Given the description of an element on the screen output the (x, y) to click on. 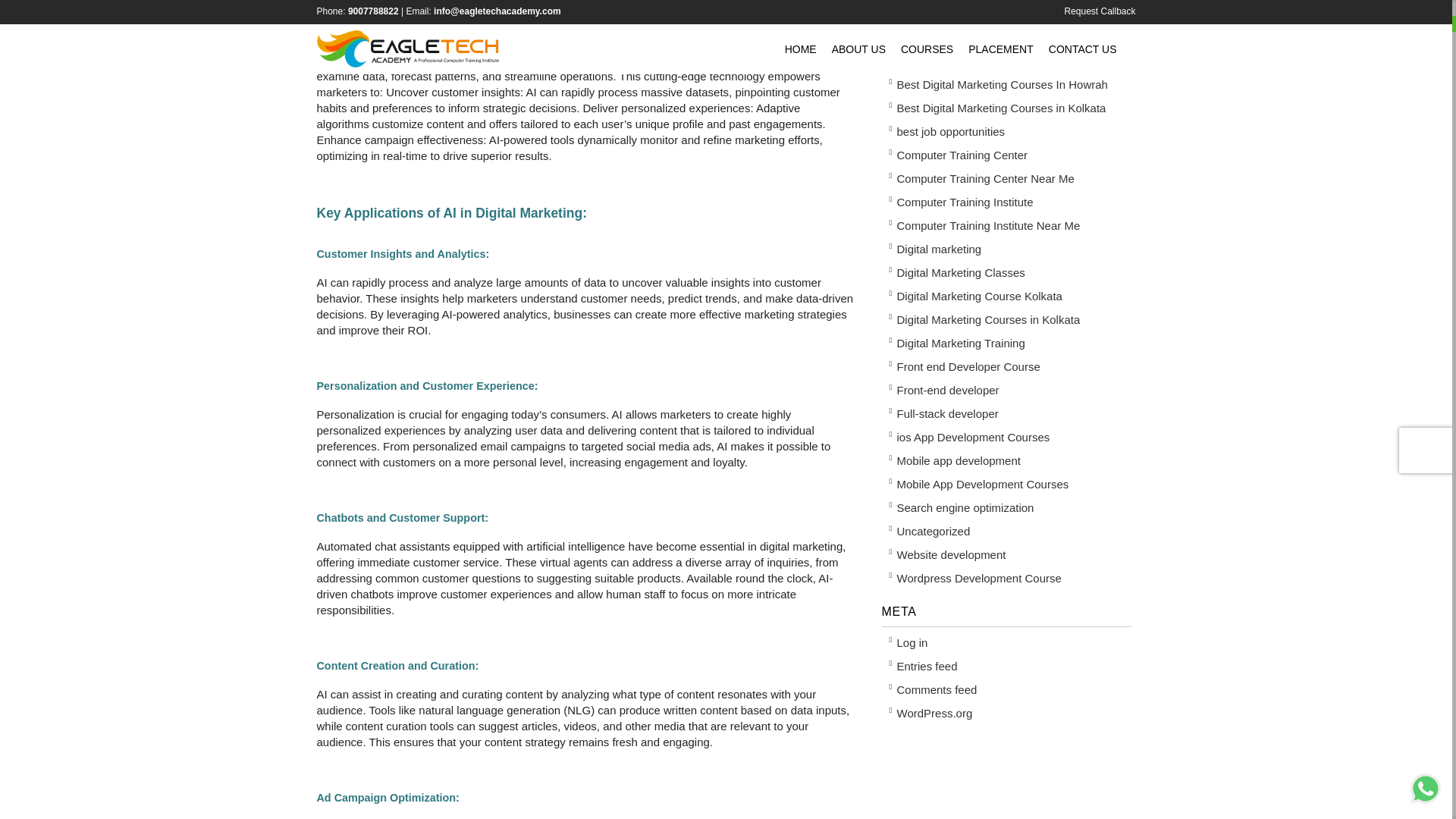
digital marketing (476, 60)
